Given the description of an element on the screen output the (x, y) to click on. 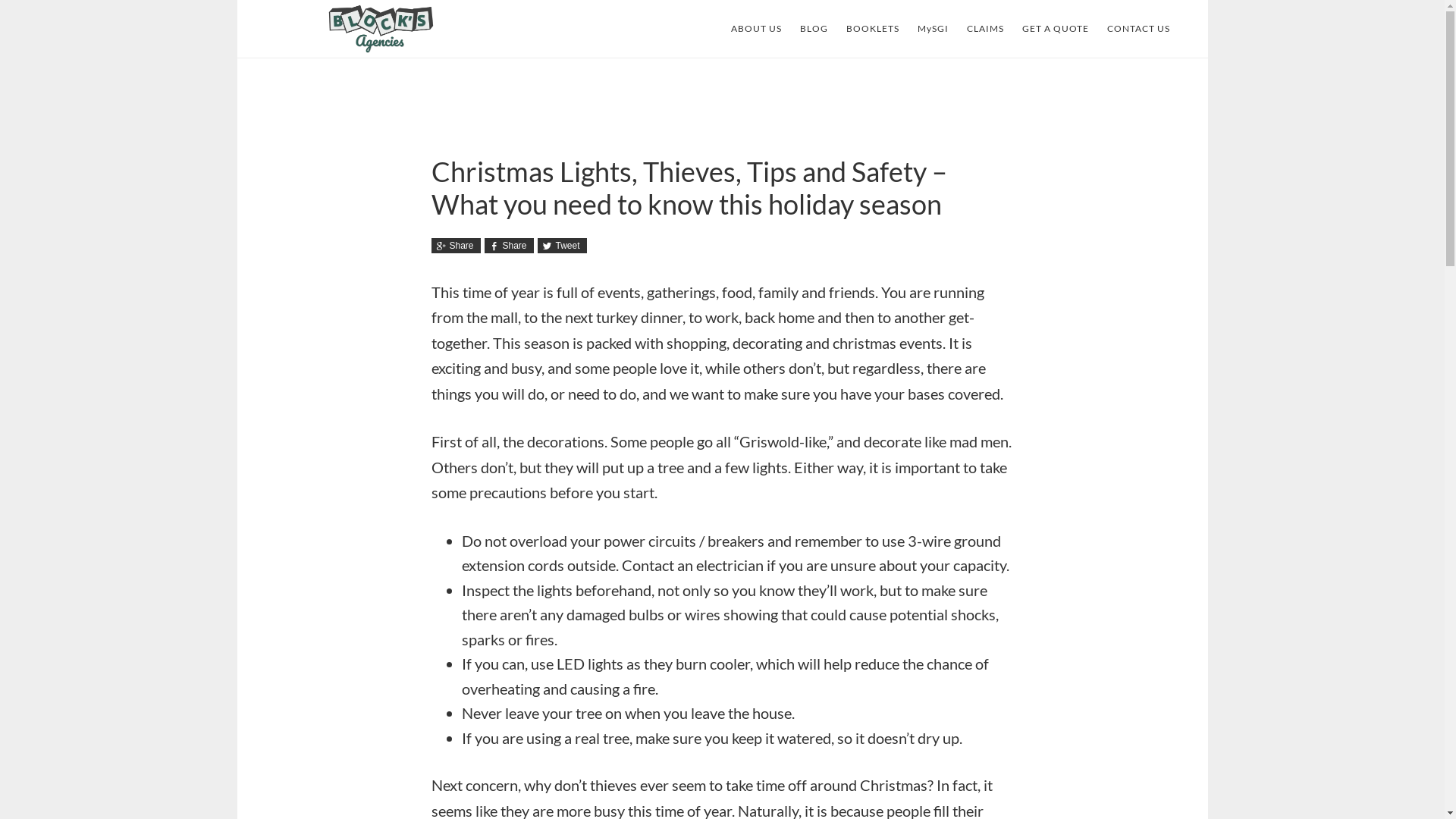
Tweet Element type: text (561, 245)
BLOG Element type: text (812, 28)
Mello Insurance Element type: hover (380, 28)
BOOKLETS Element type: text (872, 28)
GET A QUOTE Element type: text (1055, 28)
Skip to main content Element type: text (236, 0)
CLAIMS Element type: text (984, 28)
Share Element type: text (455, 245)
ABOUT US Element type: text (756, 28)
CONTACT US Element type: text (1138, 28)
MySGI Element type: text (933, 28)
Share Element type: text (508, 245)
